Given the description of an element on the screen output the (x, y) to click on. 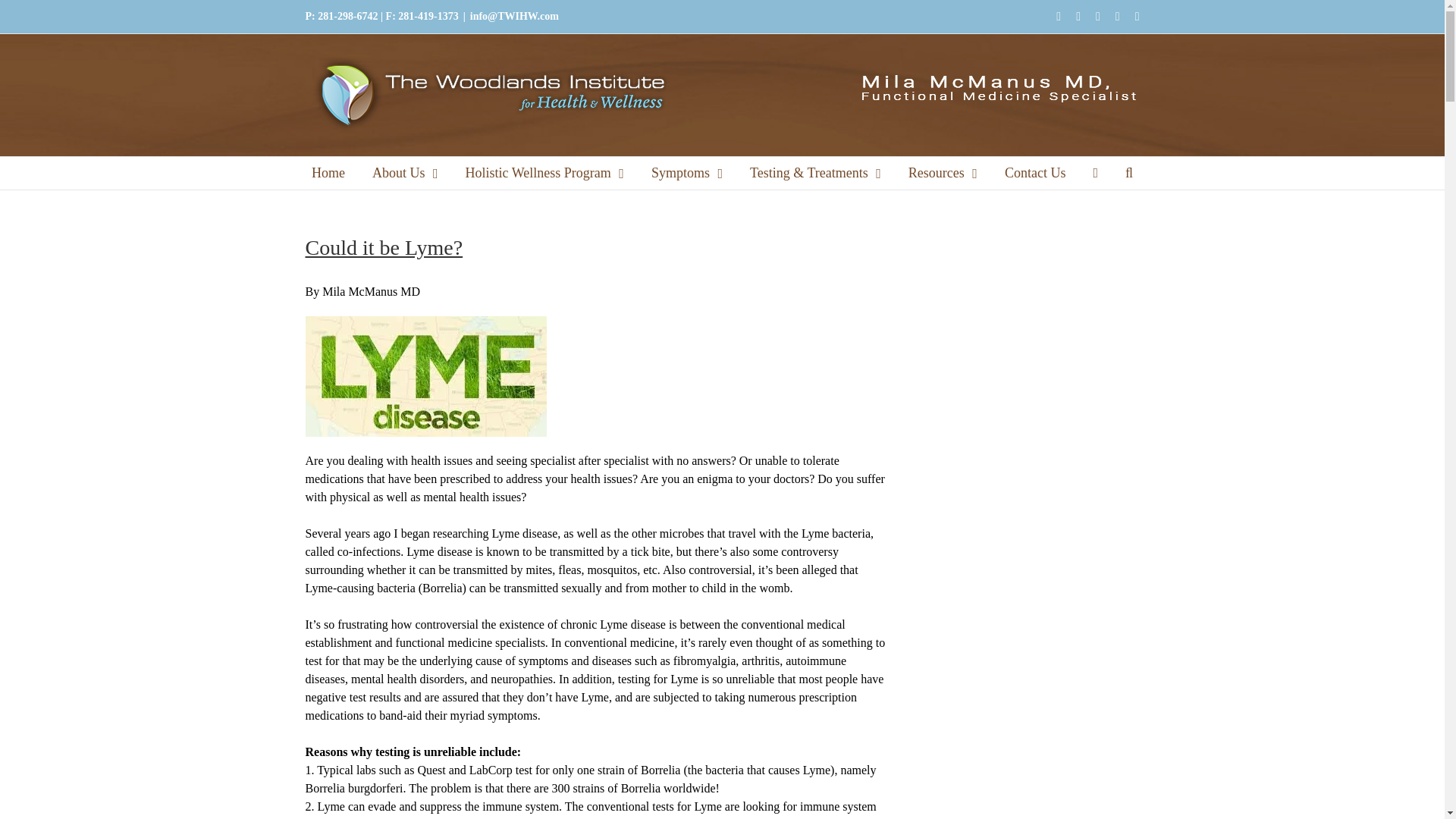
Symptoms (686, 173)
About Us (405, 173)
Holistic Wellness Program (544, 173)
Home (328, 173)
